Given the description of an element on the screen output the (x, y) to click on. 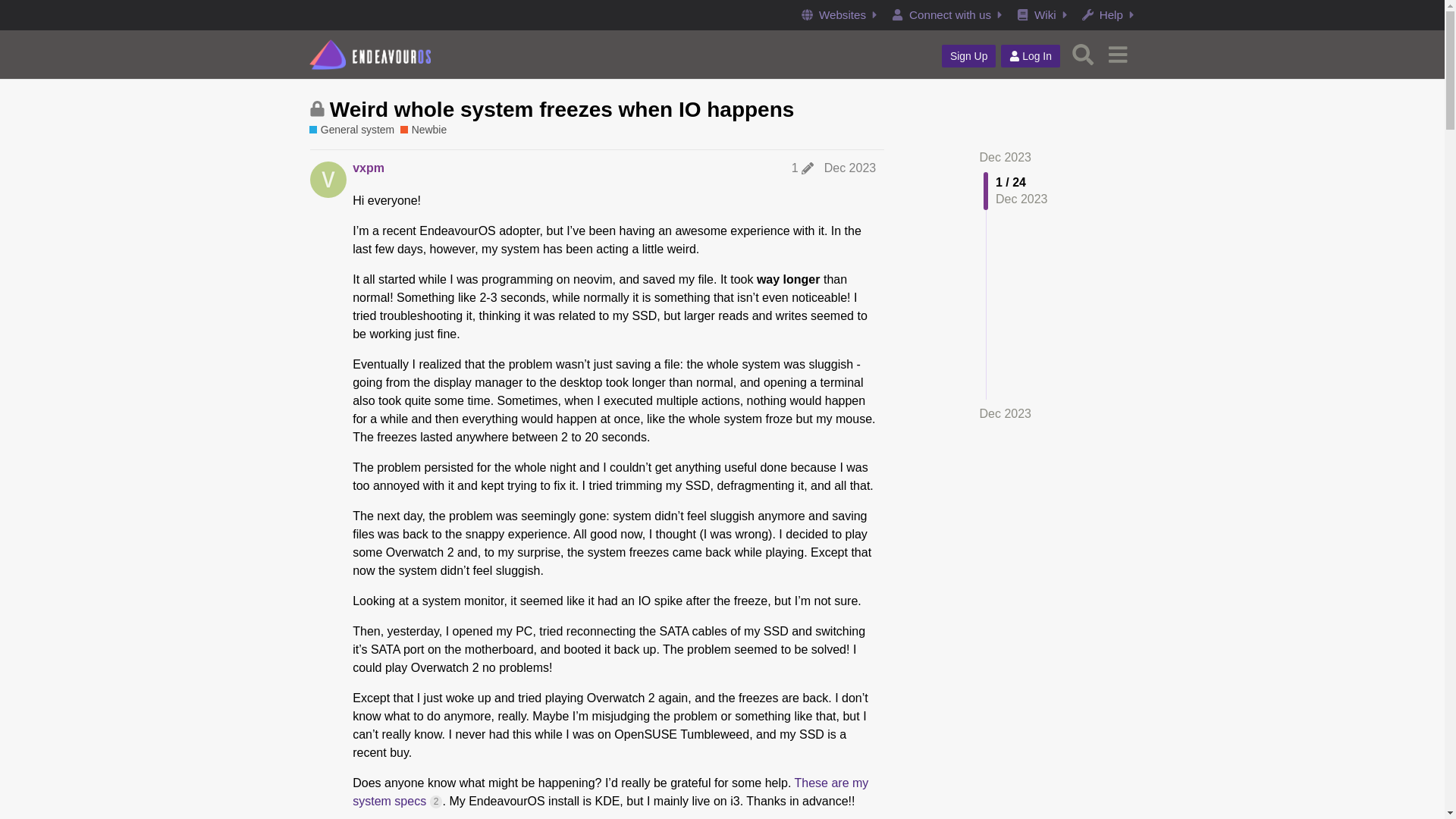
Connect with us (948, 15)
Log In (1030, 56)
Website (841, 15)
Sign Up (968, 56)
Help (1108, 15)
connect with us (948, 15)
Newbie (423, 129)
Dec 2023 (1005, 156)
Websites (841, 15)
Wiki (1044, 15)
General system (351, 129)
Wiki (1044, 15)
Weird whole system freezes when IO happens (562, 109)
